Given the description of an element on the screen output the (x, y) to click on. 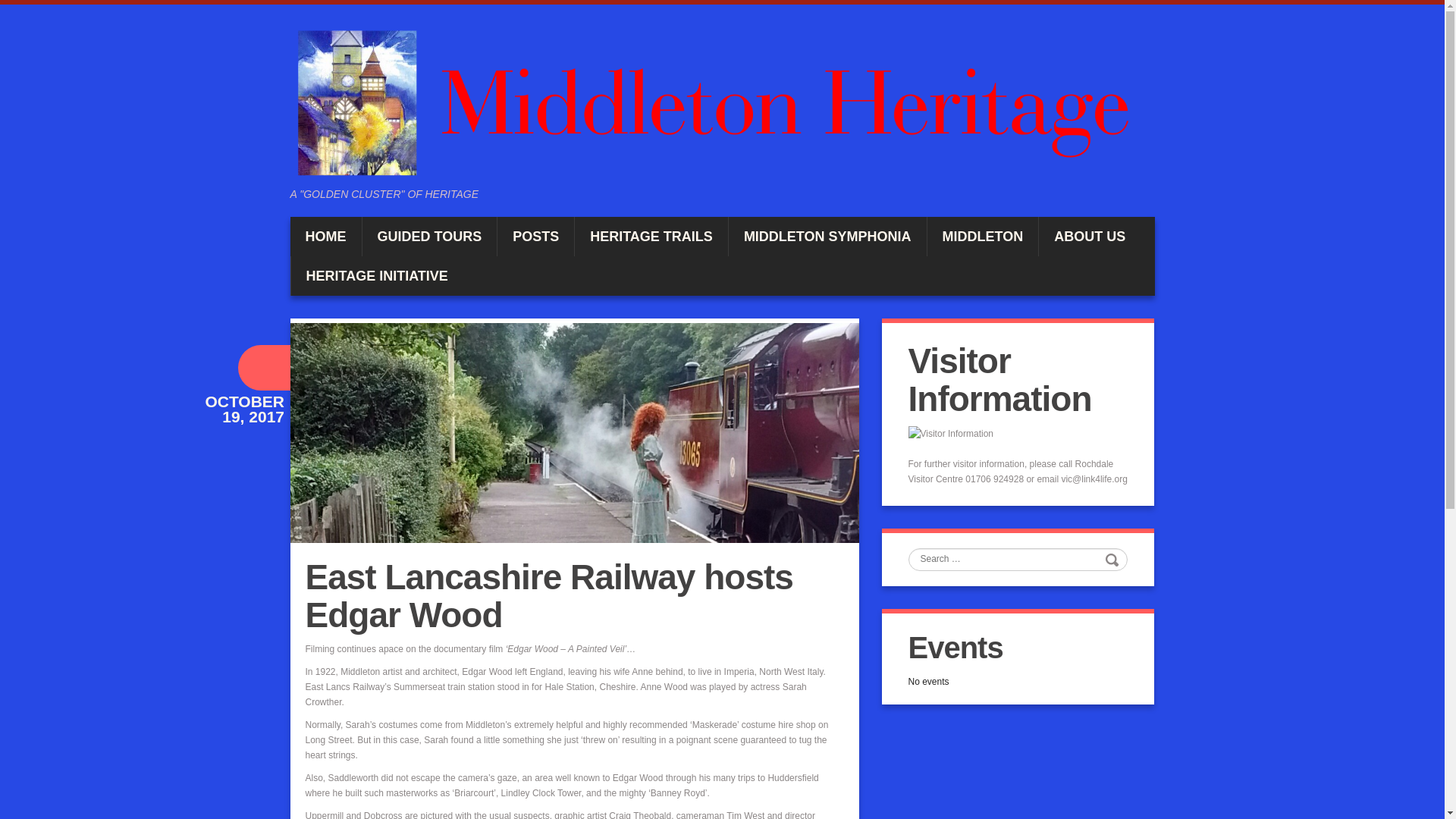
POSTS (535, 236)
HERITAGE TRAILS (651, 236)
Search (1113, 558)
ABOUT US (1089, 236)
Middleton Heritage (721, 102)
HOME (325, 236)
HERITAGE INITIATIVE (377, 275)
MIDDLETON (983, 236)
MIDDLETON SYMPHONIA (827, 236)
GUIDED TOURS (429, 236)
